Given the description of an element on the screen output the (x, y) to click on. 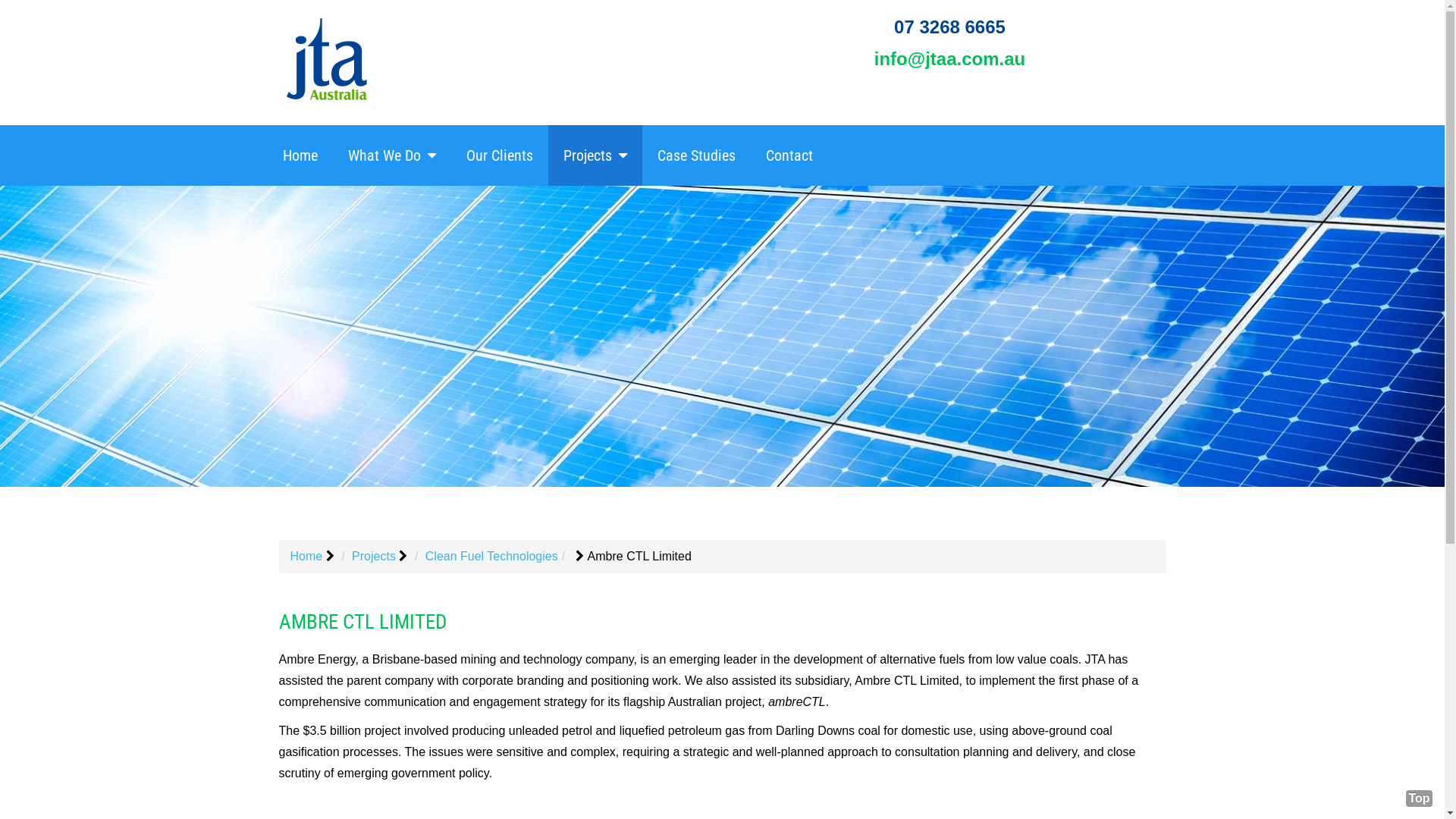
Case Studies Element type: text (695, 155)
Home Element type: text (299, 155)
Projects Element type: text (373, 555)
Clean Fuel Technologies Element type: text (491, 555)
AMBRE CTL LIMITED Element type: text (362, 621)
Home Element type: text (305, 555)
Contact Element type: text (789, 155)
info@jtaa.com.au Element type: text (949, 58)
JTA Australia - Clean fuel technology projects Element type: hover (722, 335)
Top Element type: text (1418, 798)
Projects Element type: text (594, 155)
JTA  Australia Element type: hover (326, 58)
07 3268 6665 Element type: text (949, 26)
Our Clients Element type: text (498, 155)
What We Do Element type: text (391, 155)
